Given the description of an element on the screen output the (x, y) to click on. 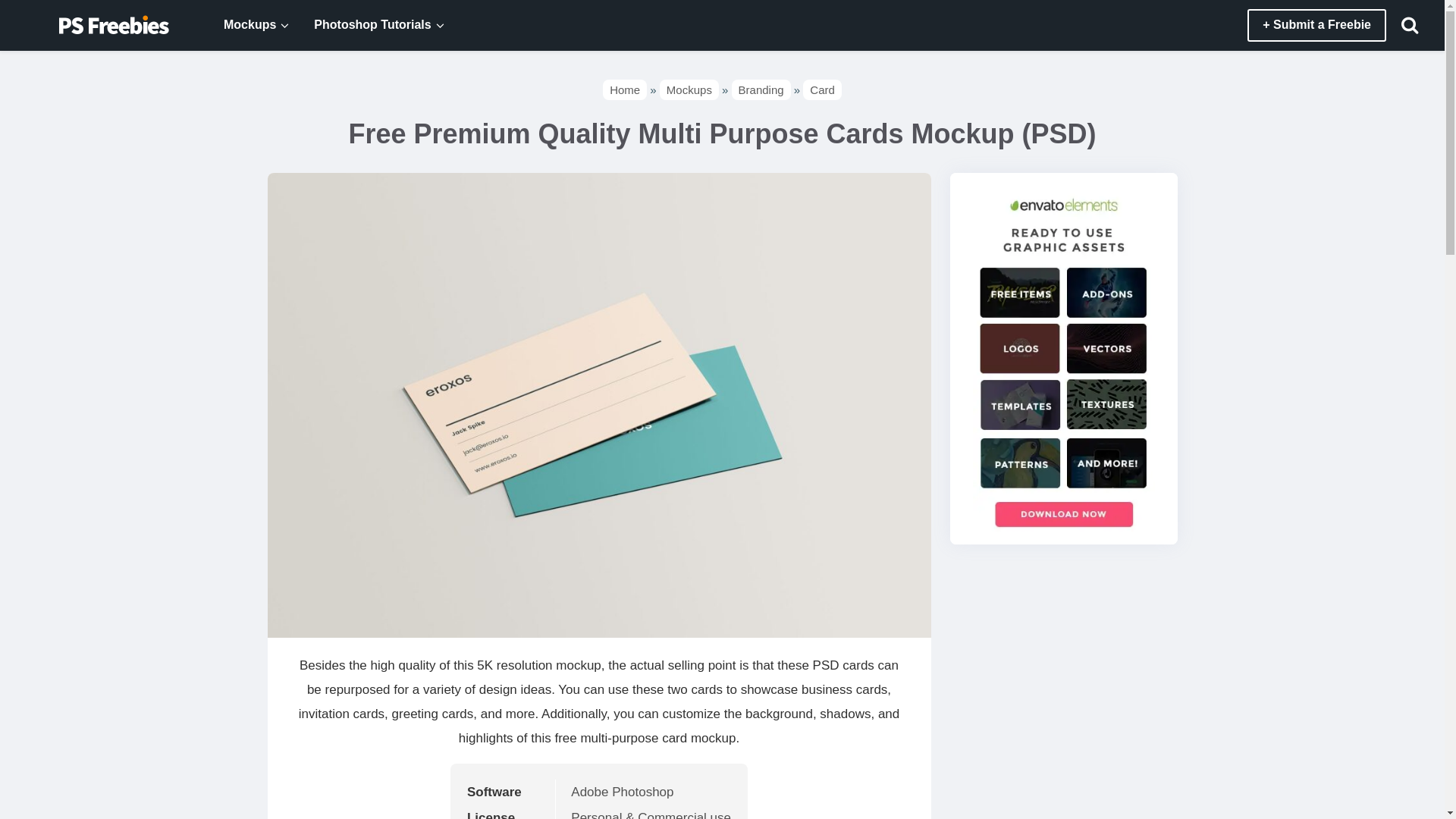
Mockups (241, 25)
Photoshop Tutorials (364, 25)
Home (624, 89)
